Given the description of an element on the screen output the (x, y) to click on. 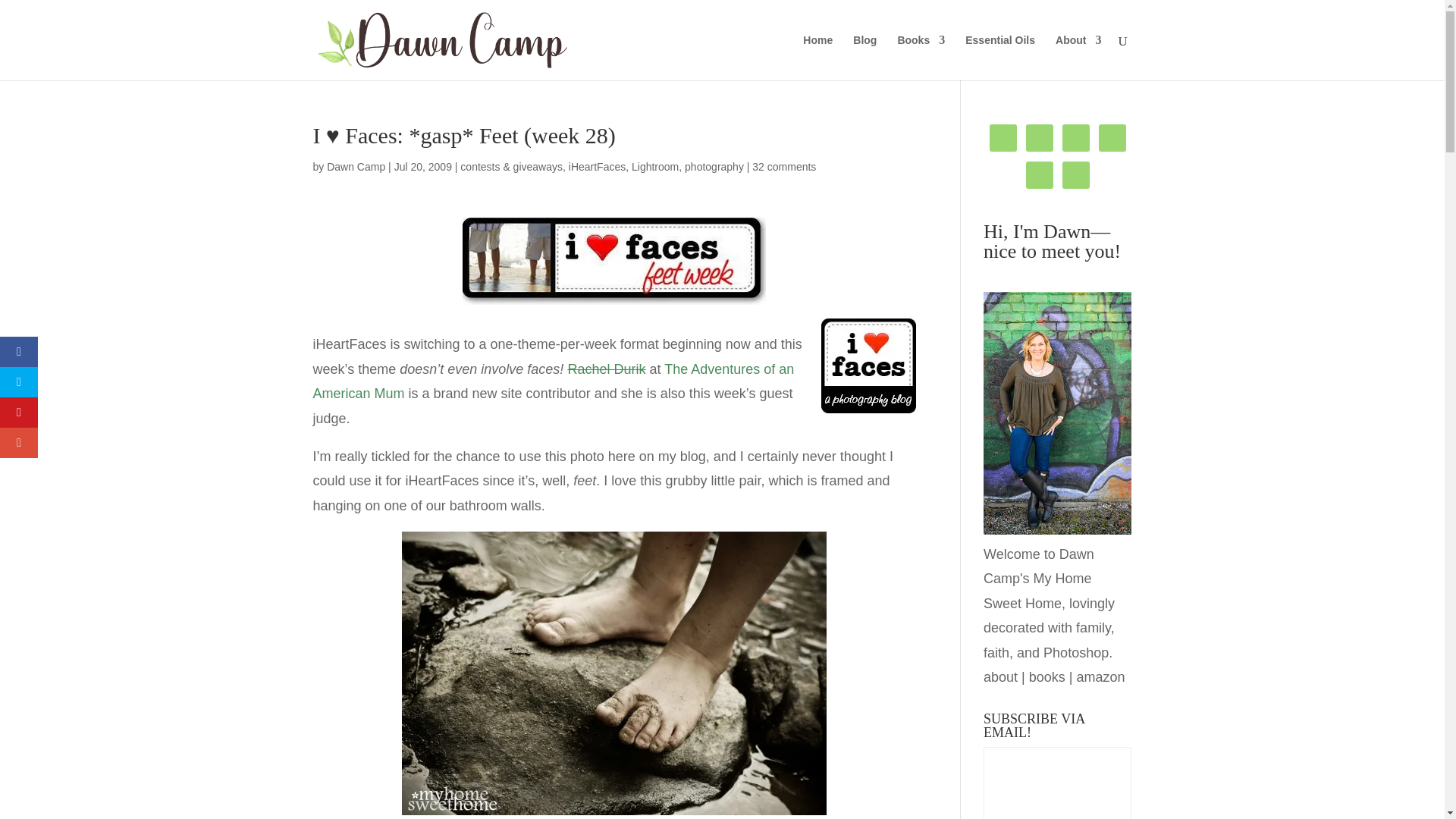
iHeartFaces (597, 166)
Dawn Camp (355, 166)
Essential Oils (1000, 57)
About (1077, 57)
The Adventures of an American Mum (553, 381)
32 comments (783, 166)
Books (920, 57)
Posts by Dawn Camp (355, 166)
Rachel Durik (606, 368)
photography (714, 166)
button - feet week (614, 260)
Lightroom (654, 166)
